Given the description of an element on the screen output the (x, y) to click on. 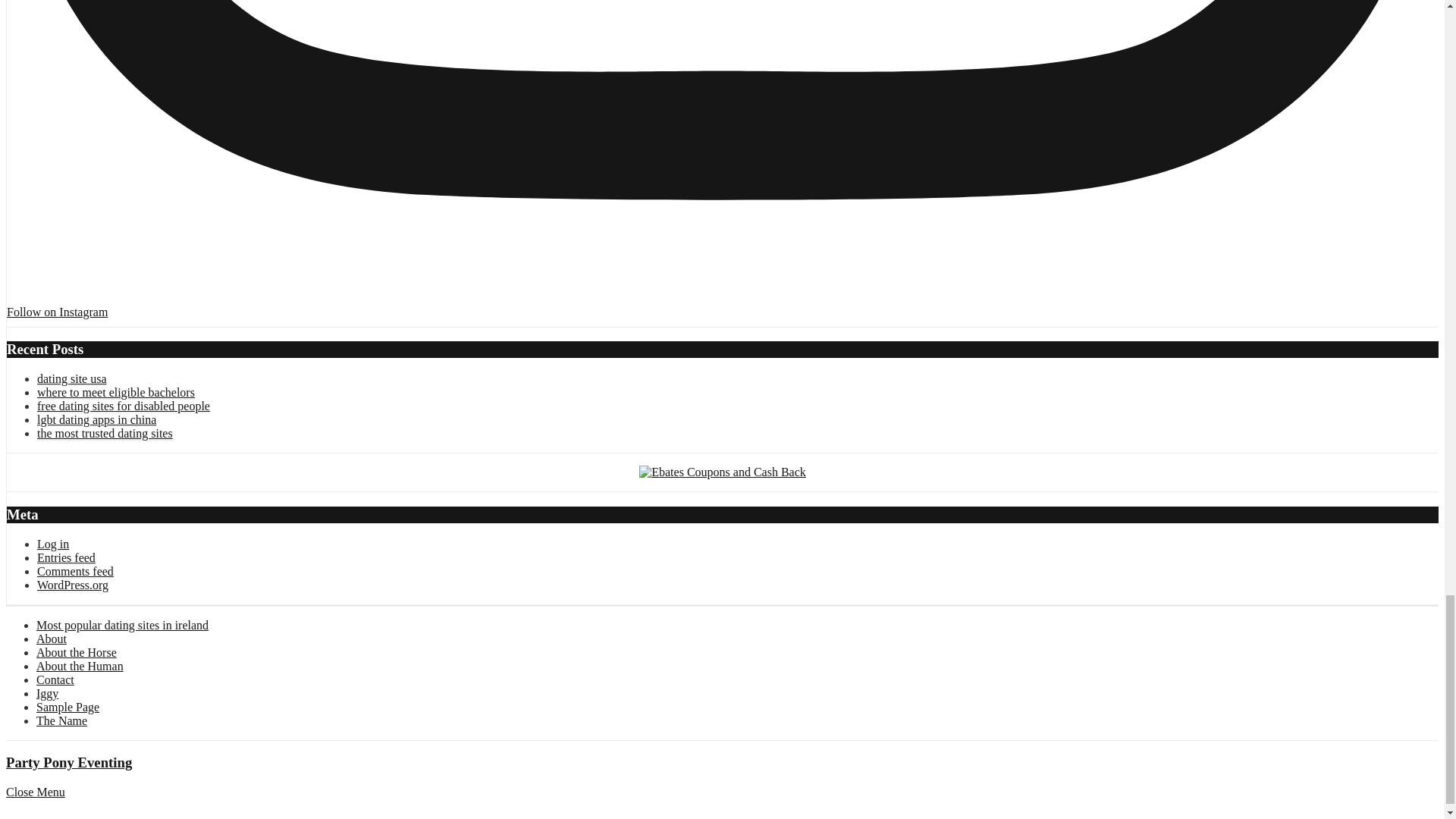
About the Horse (76, 652)
Entries feed (66, 558)
About the Human (79, 666)
About (51, 638)
Party Pony Eventing (68, 762)
where to meet eligible bachelors (116, 392)
Most popular dating sites in ireland (122, 625)
Contact (55, 679)
Iggy (47, 693)
Close Menu (35, 791)
